Given the description of an element on the screen output the (x, y) to click on. 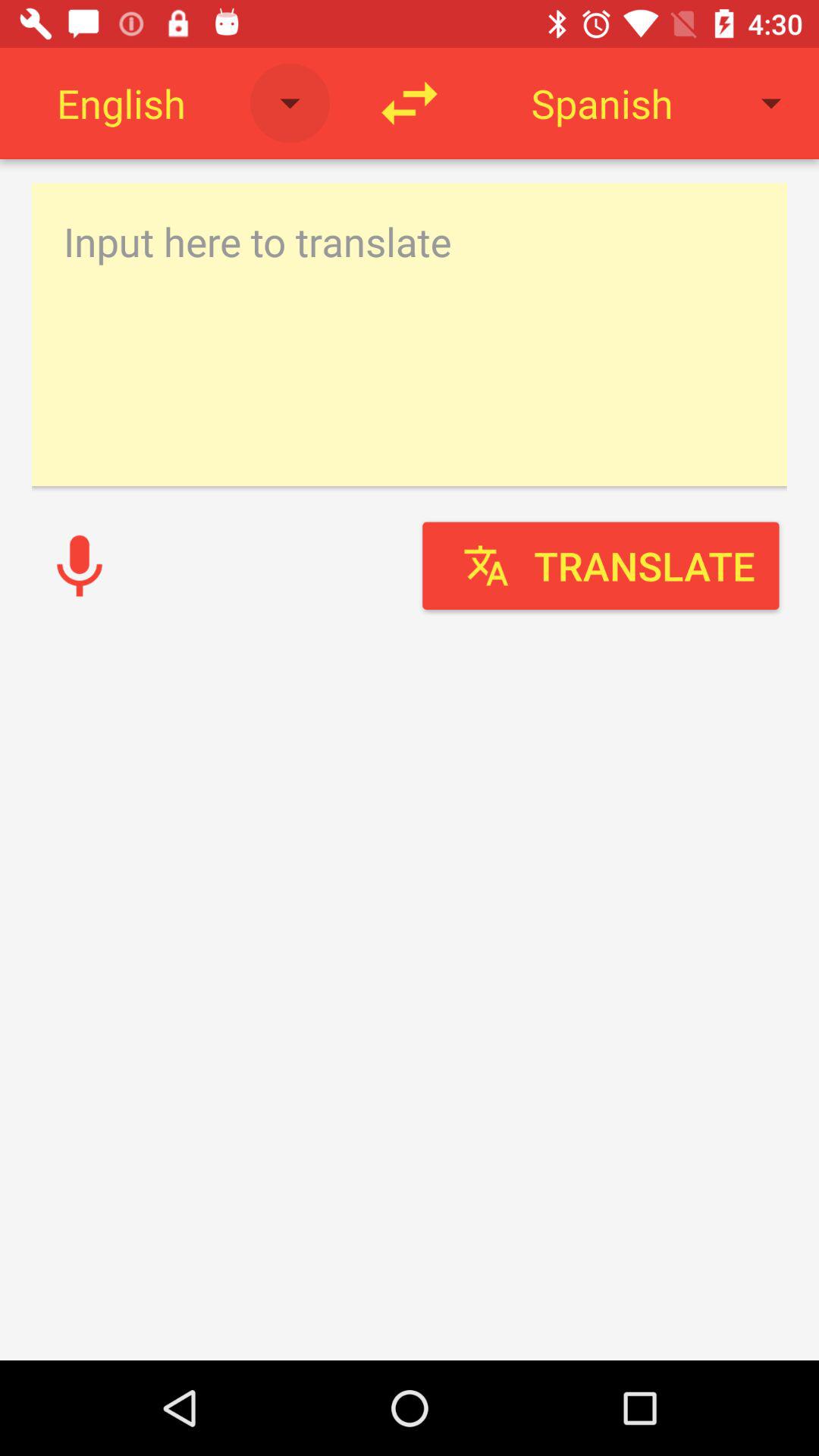
switch languages (409, 103)
